Given the description of an element on the screen output the (x, y) to click on. 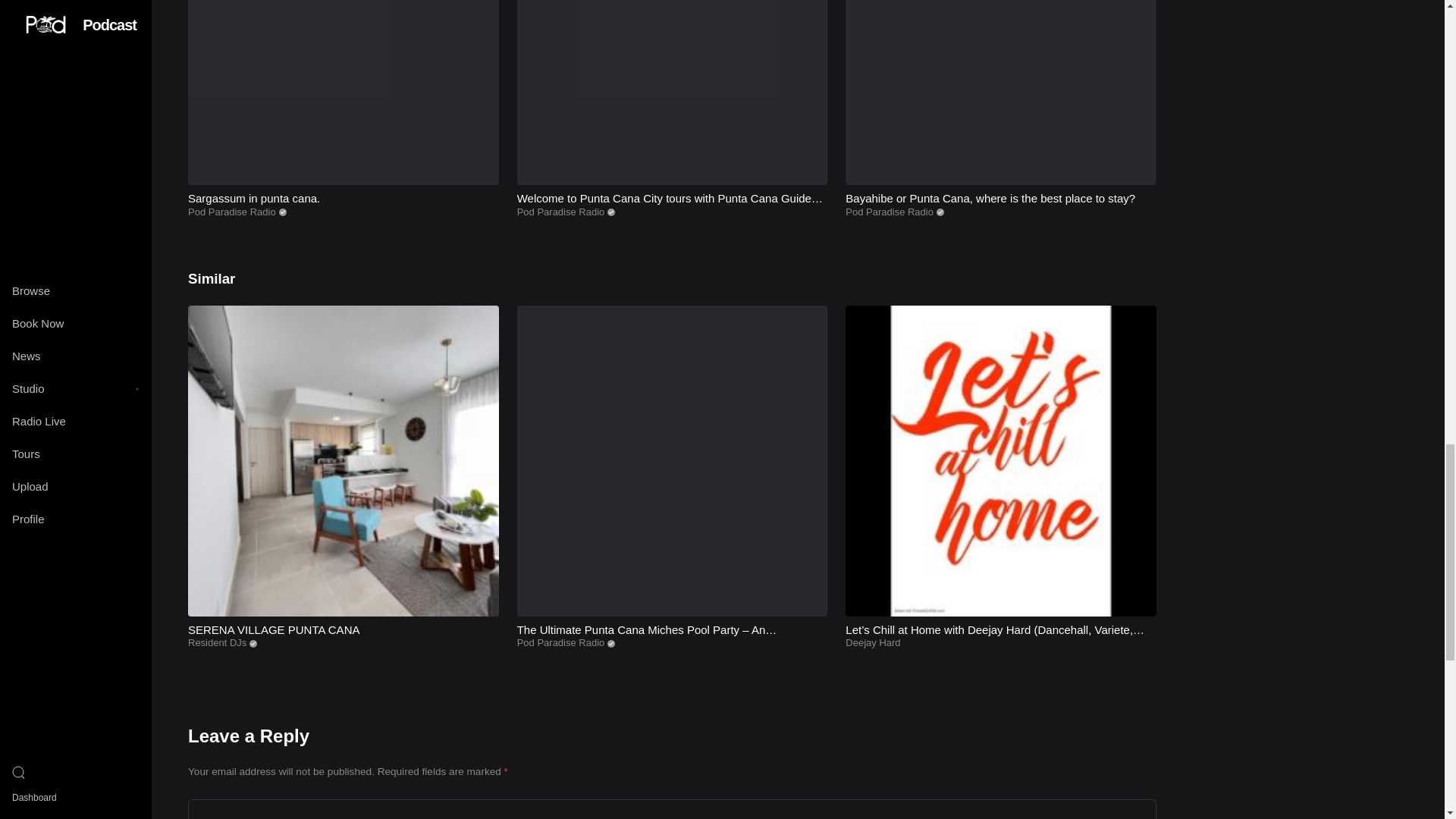
Sargassum in punta cana. (253, 197)
Verified (939, 212)
Verified (610, 212)
Pod Paradise Radio (231, 211)
Verified (1268, 212)
Verified (282, 212)
Pod Paradise Radio (560, 211)
Verified (252, 643)
